Given the description of an element on the screen output the (x, y) to click on. 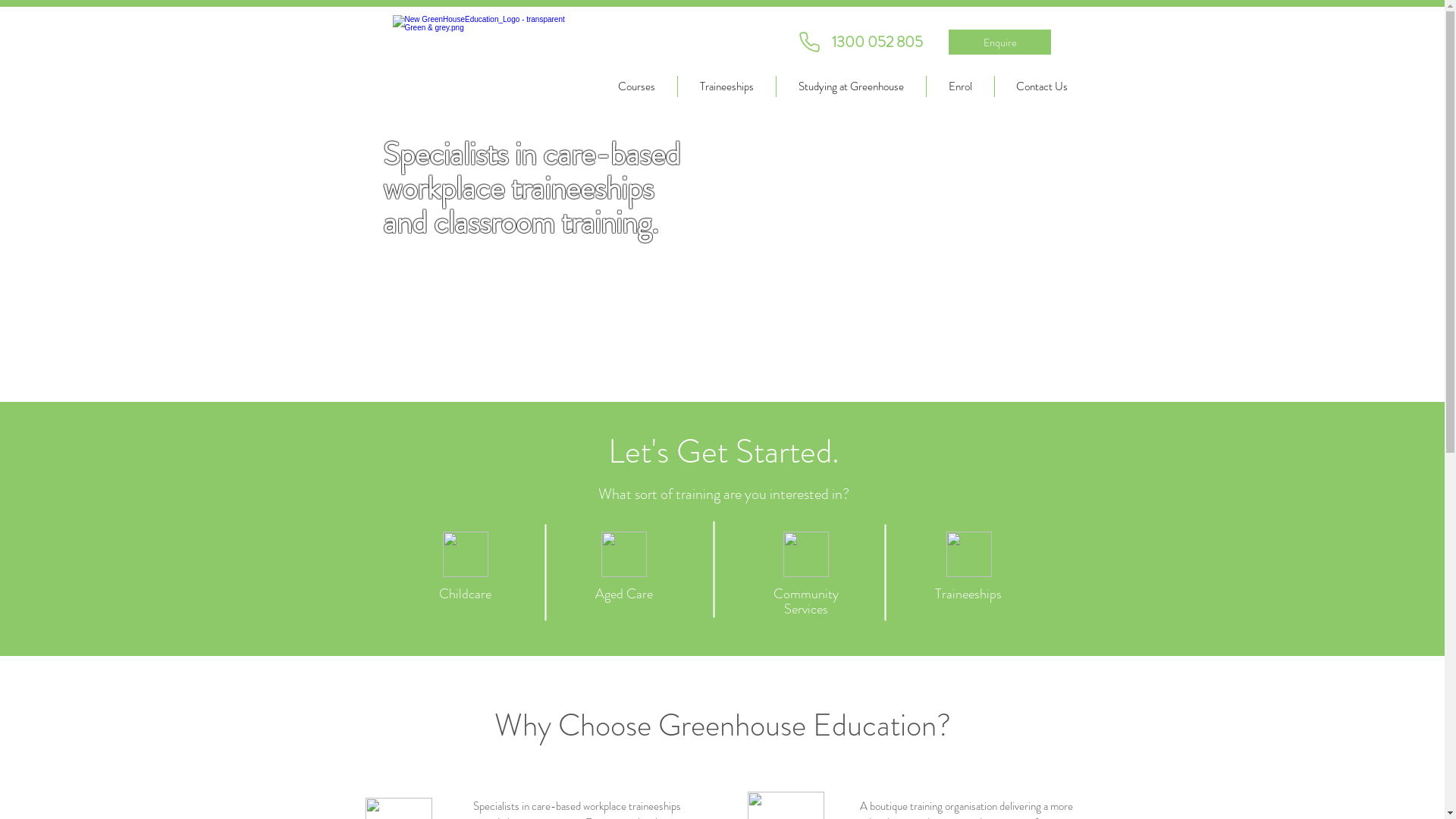
Traineeships Element type: text (726, 86)
1300 052 805 Element type: text (876, 42)
Enrol Element type: text (960, 86)
TWIPLA (Visitor Analytics) Element type: hover (1218, 260)
Courses Element type: text (636, 86)
Contact Us Element type: text (1041, 86)
Enquire Element type: text (998, 41)
